Given the description of an element on the screen output the (x, y) to click on. 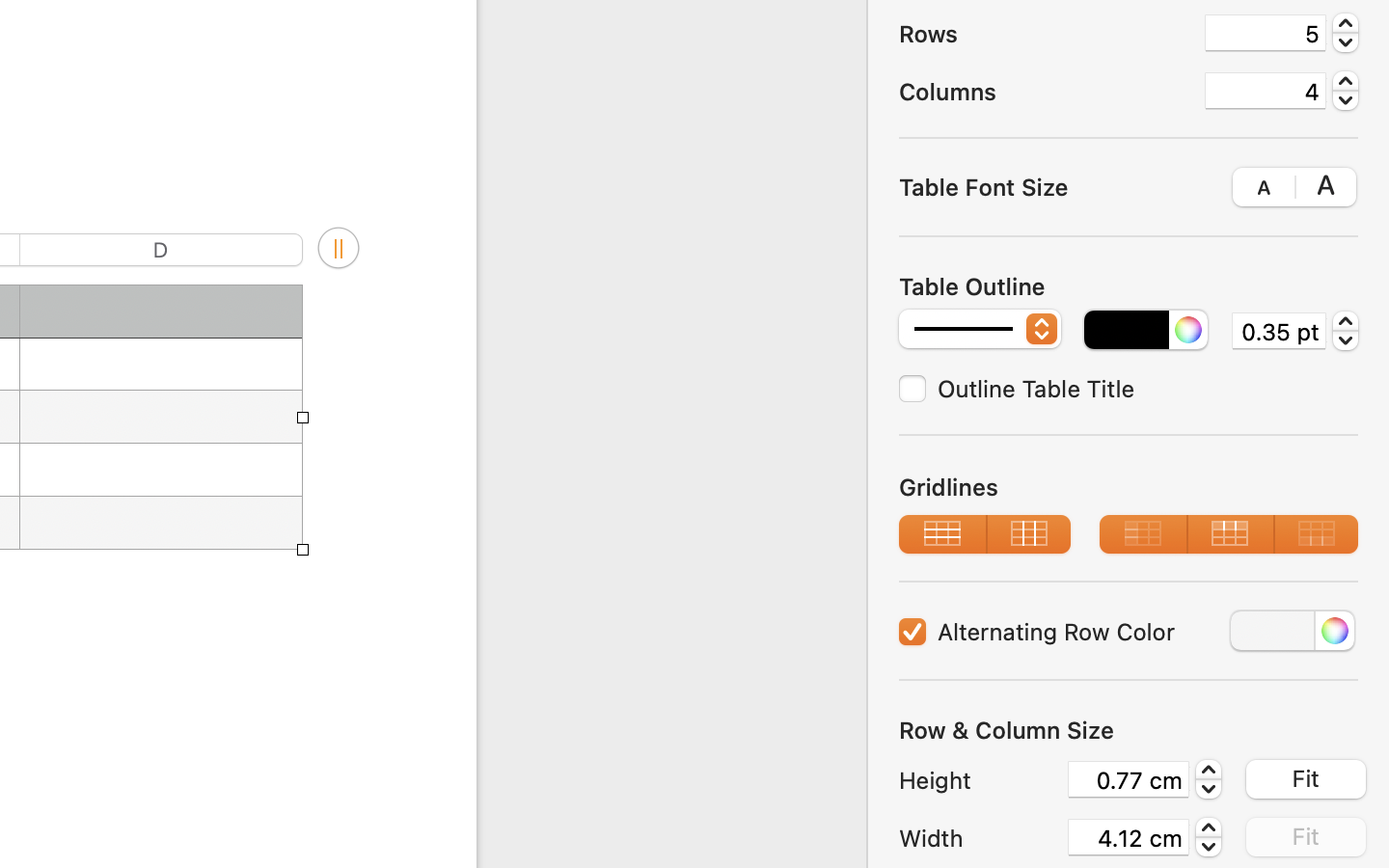
Table Outline Element type: AXStaticText (972, 285)
Gridlines Element type: AXStaticText (1128, 486)
5 Element type: AXTextField (1265, 32)
116.9125000014901 Element type: AXIncrementor (1208, 837)
Width Element type: AXStaticText (978, 837)
